Given the description of an element on the screen output the (x, y) to click on. 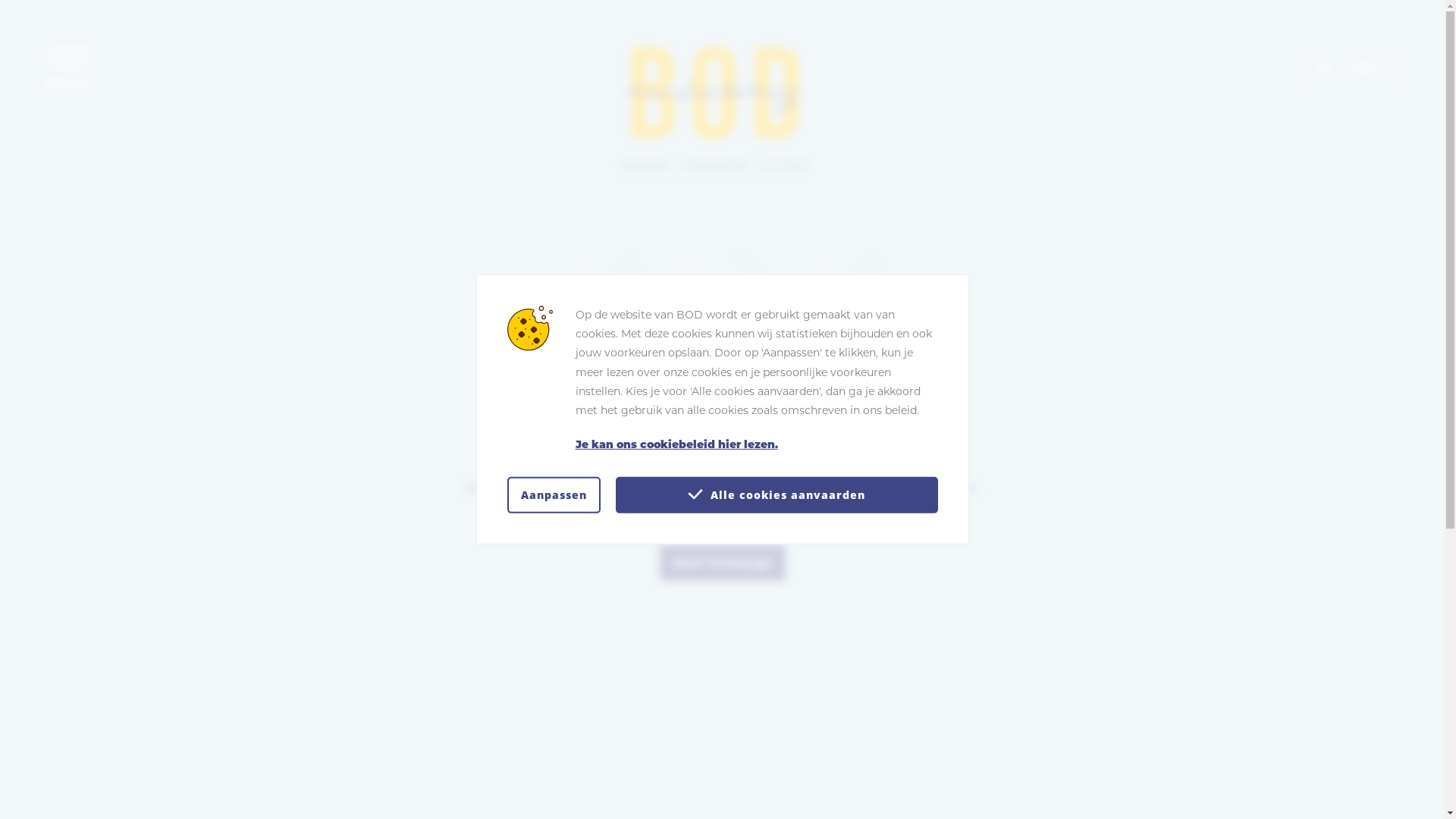
Je kan ons cookiebeleid hier lezen. Element type: text (755, 444)
Alle cookies aanvaarden Element type: text (776, 494)
Login Element type: text (1350, 65)
Aanpassen Element type: text (552, 494)
Toon navigatie
MENU Element type: text (70, 67)
Naar homepage Element type: text (722, 562)
